Given the description of an element on the screen output the (x, y) to click on. 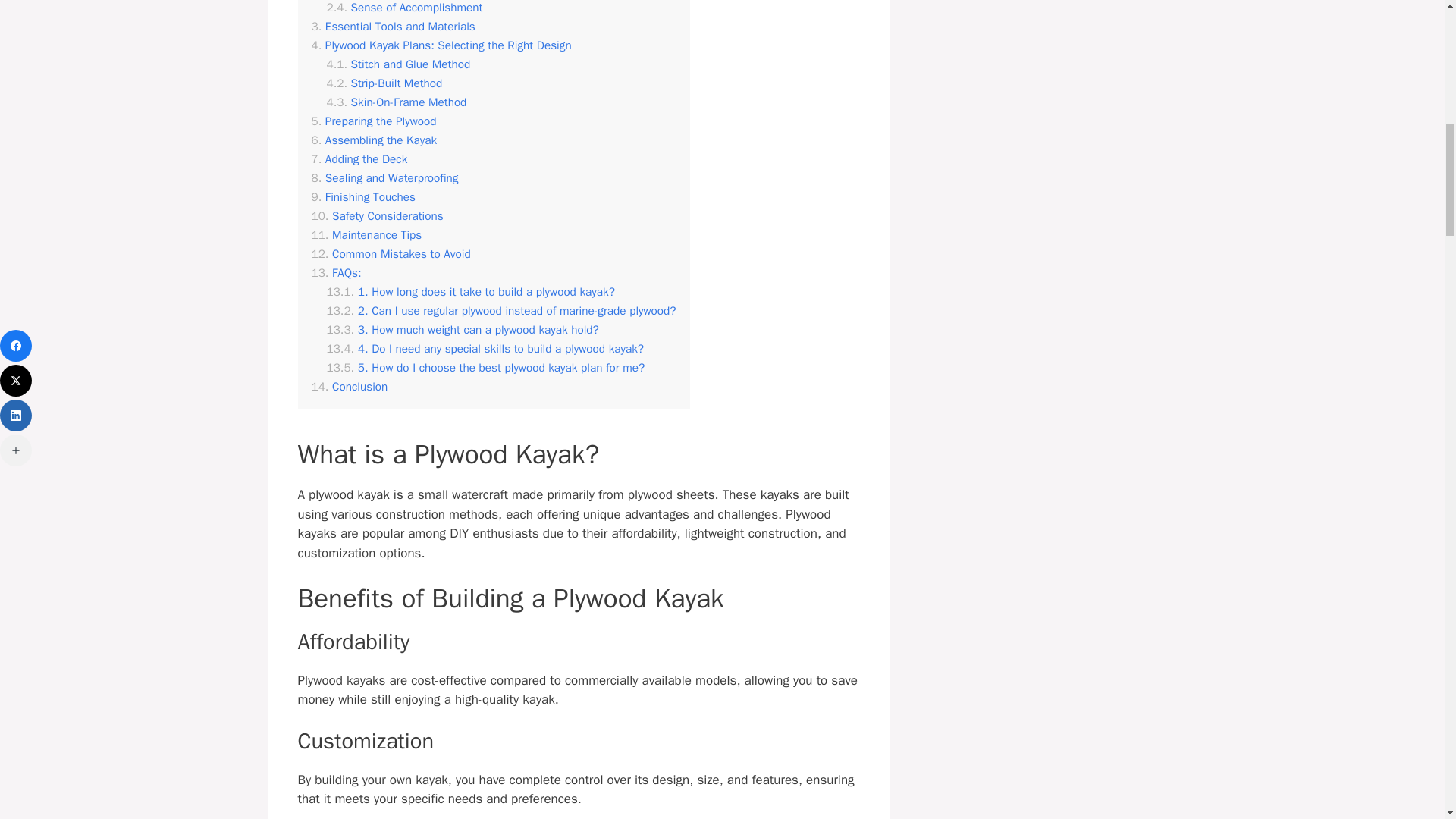
Preparing the Plywood (373, 121)
Safety Considerations (376, 216)
Sealing and Waterproofing (384, 178)
Skin-On-Frame Method (395, 102)
Plywood Kayak Plans: Selecting the Right Design (440, 45)
Preparing the Plywood (373, 121)
Sense of Accomplishment (403, 7)
Sense of Accomplishment (403, 7)
Plywood Kayak Plans: Selecting the Right Design (440, 45)
Essential Tools and Materials (392, 26)
Essential Tools and Materials (392, 26)
Adding the Deck (359, 159)
Strip-Built Method (384, 83)
Finishing Touches (362, 197)
Maintenance Tips (366, 235)
